Given the description of an element on the screen output the (x, y) to click on. 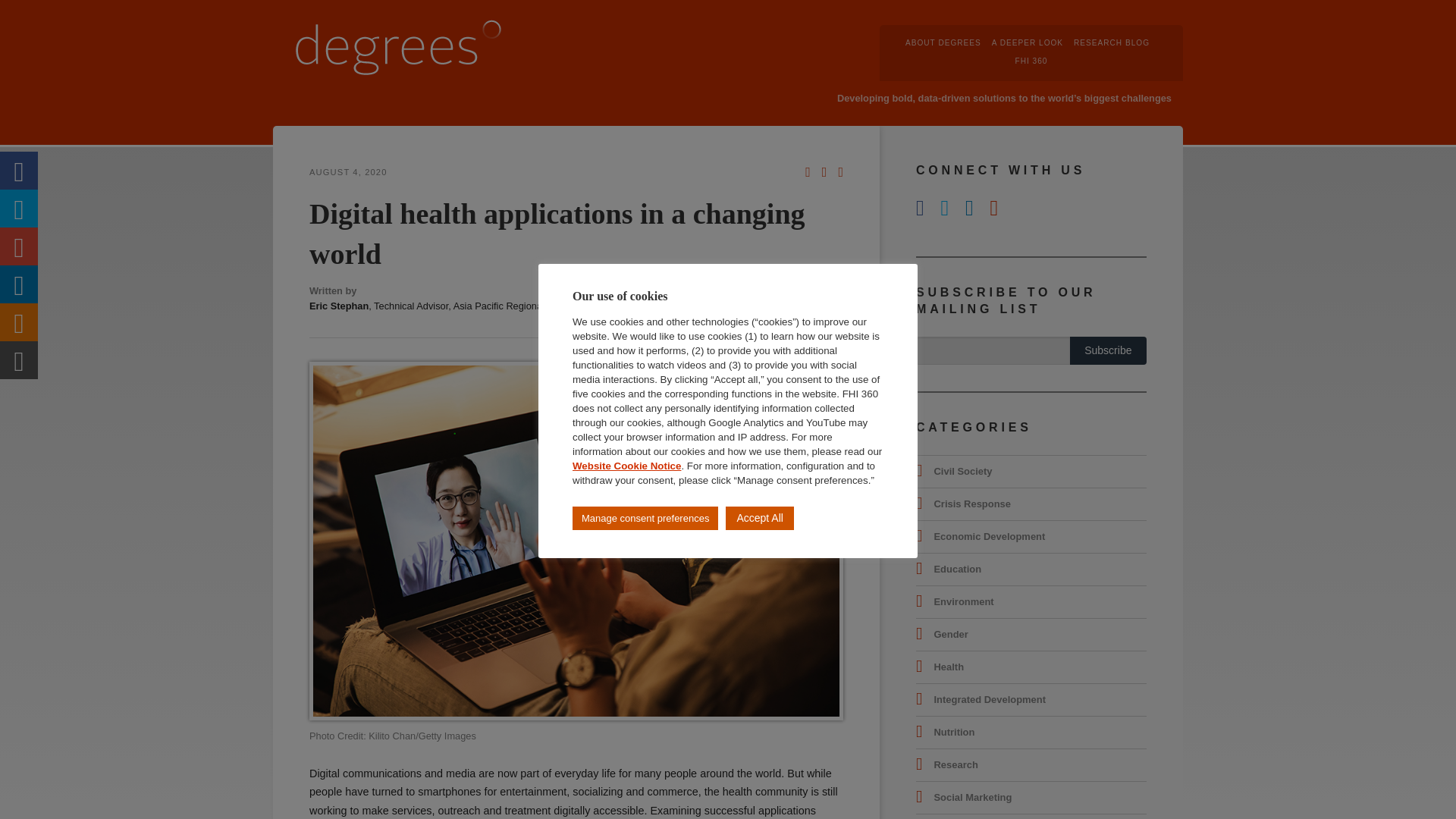
RESEARCH BLOG (1112, 42)
A DEEPER LOOK (1026, 42)
Civil Society (962, 471)
FHI 360 (1031, 60)
Subscribe (1108, 350)
Subscribe (1108, 350)
ABOUT DEGREES (943, 42)
